Given the description of an element on the screen output the (x, y) to click on. 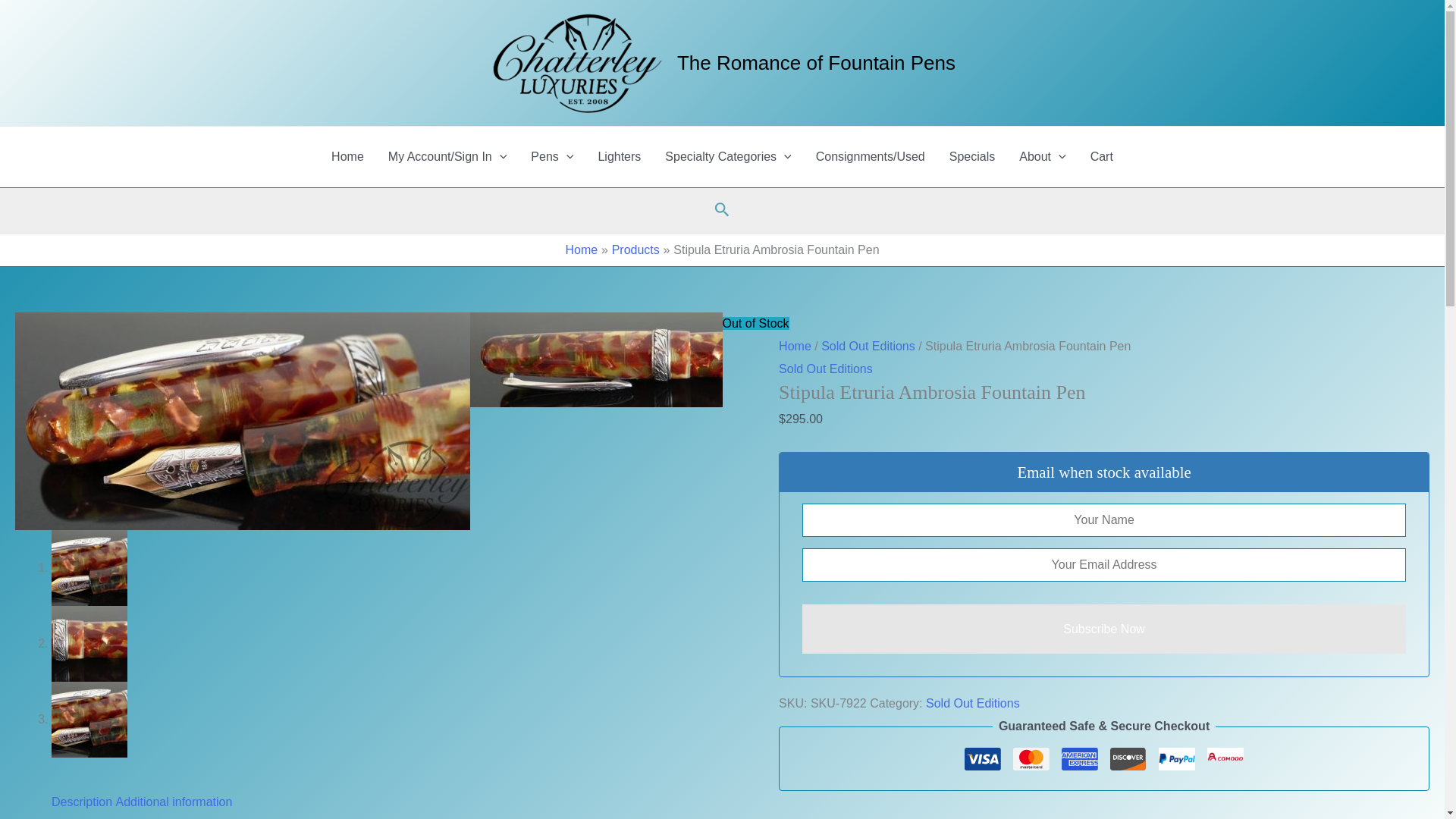
Stipula Etruria Ambrosia Fountain Pen (697, 359)
Stipula Etruria Ambrosia Fountain Pen (242, 420)
Pens (551, 156)
Subscribe Now (1104, 629)
Home (346, 156)
